Given the description of an element on the screen output the (x, y) to click on. 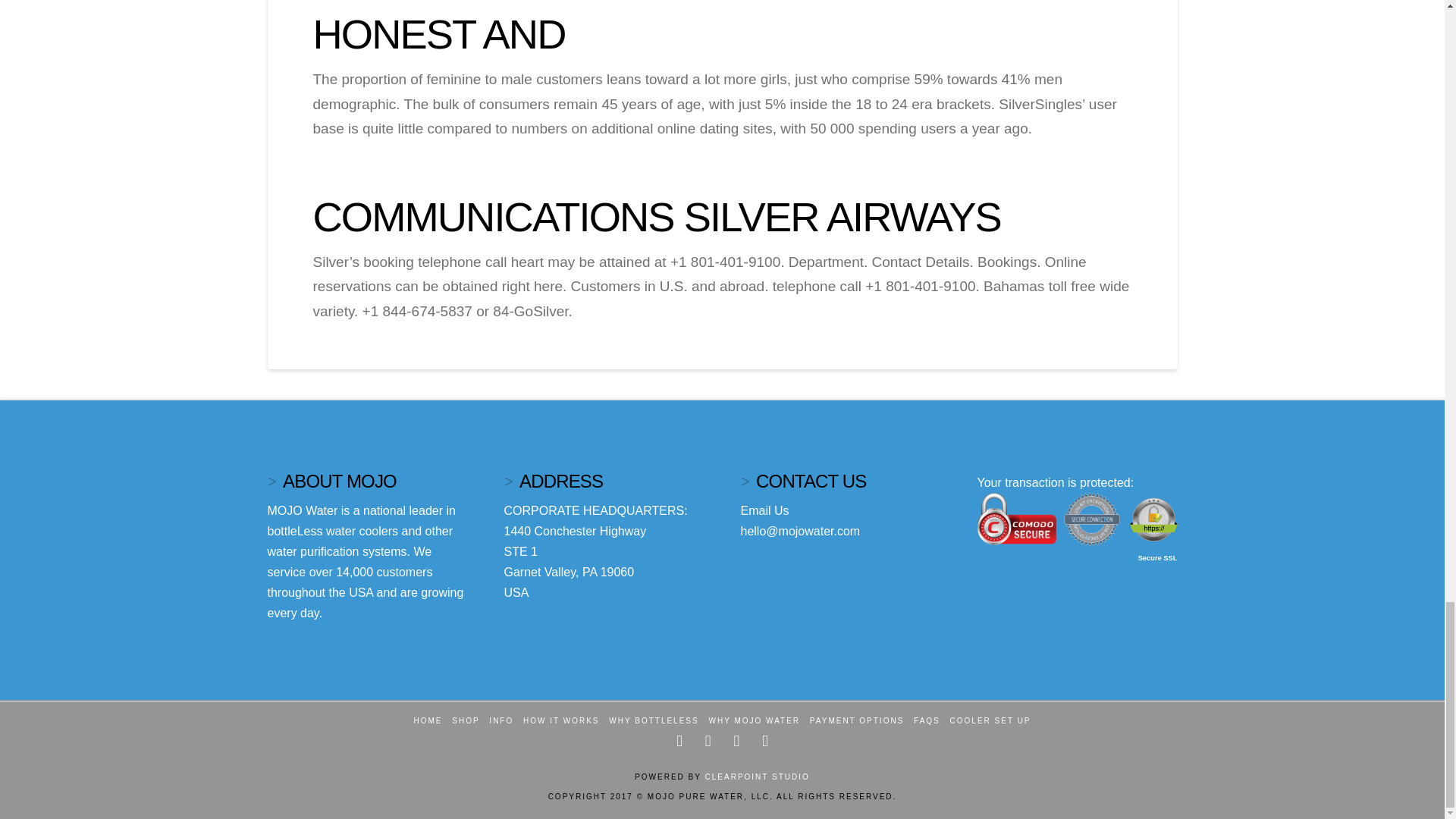
YouTube (764, 741)
ClearPoint Studio (756, 777)
Facebook (679, 741)
LinkedIn (736, 741)
